Given the description of an element on the screen output the (x, y) to click on. 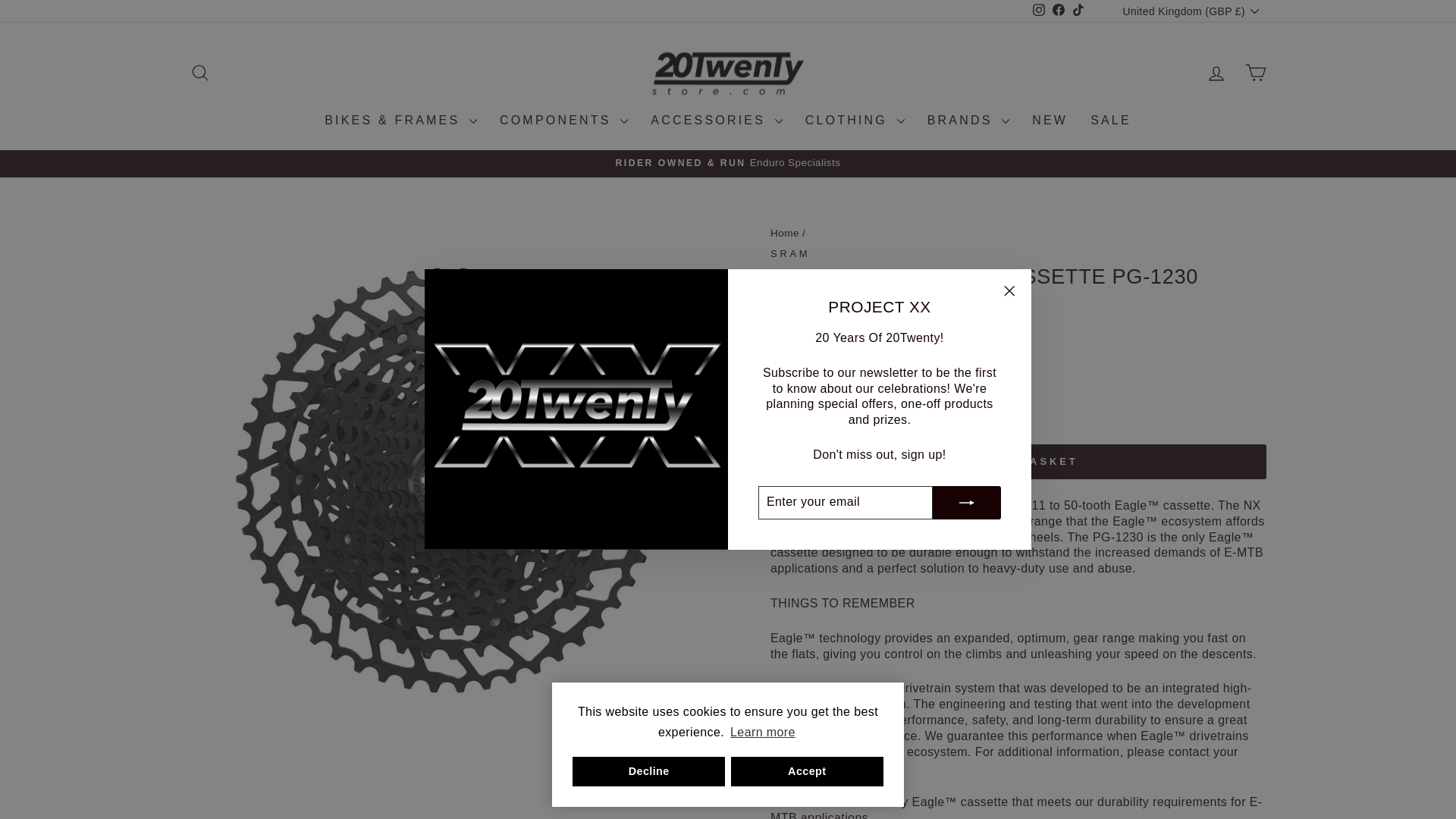
ICON-SEARCH (200, 72)
Learn more (762, 732)
20TwentyStore on Instagram (1038, 11)
Back to the frontpage (784, 233)
instagram (1038, 9)
Decline (648, 771)
20TwentyStore on TikTok (1077, 11)
icon-X (1009, 291)
1 (800, 412)
20TwentyStore on Facebook (1058, 11)
Accept (806, 771)
ACCOUNT (1216, 73)
